Given the description of an element on the screen output the (x, y) to click on. 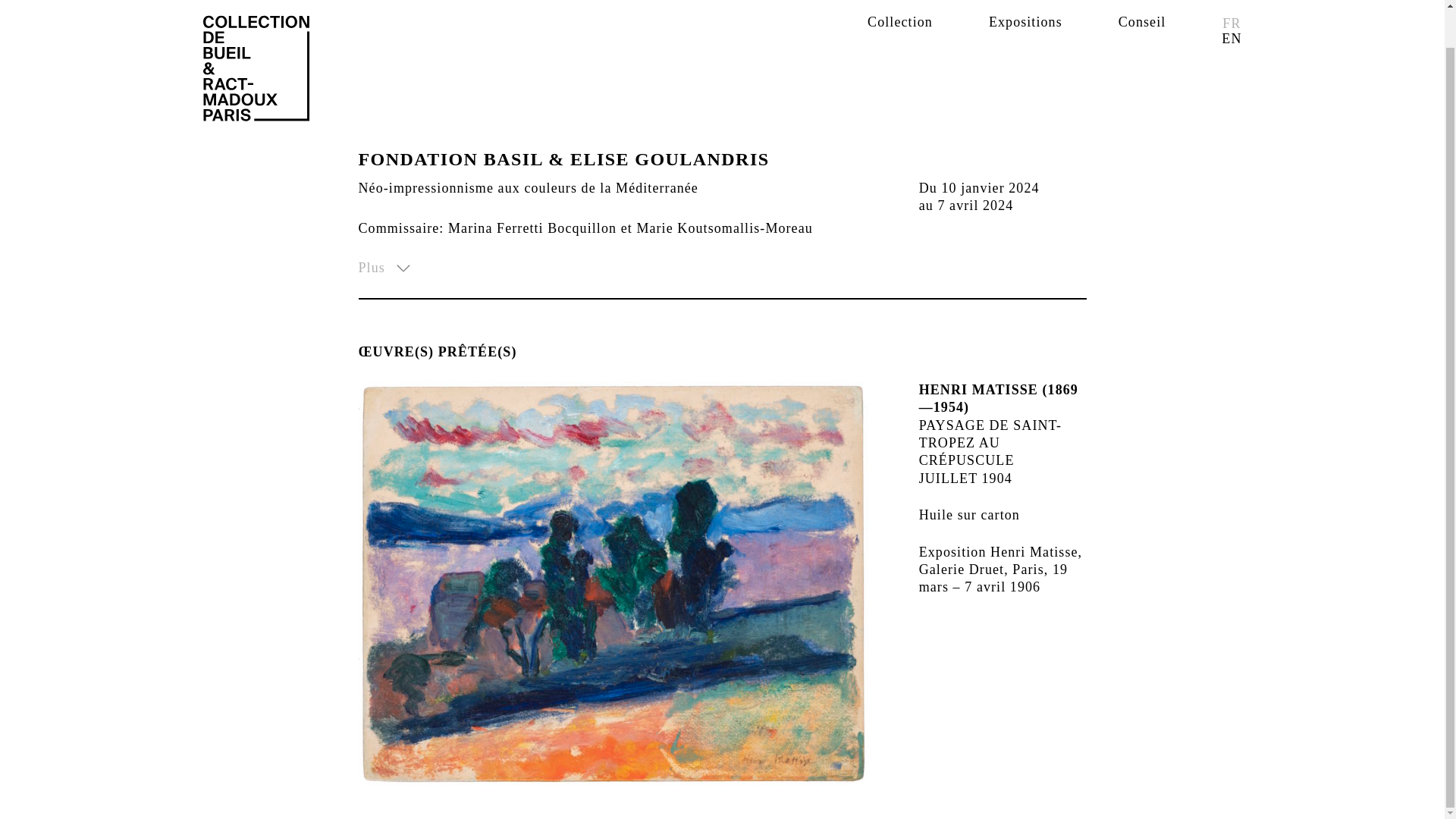
EN (1231, 2)
